Given the description of an element on the screen output the (x, y) to click on. 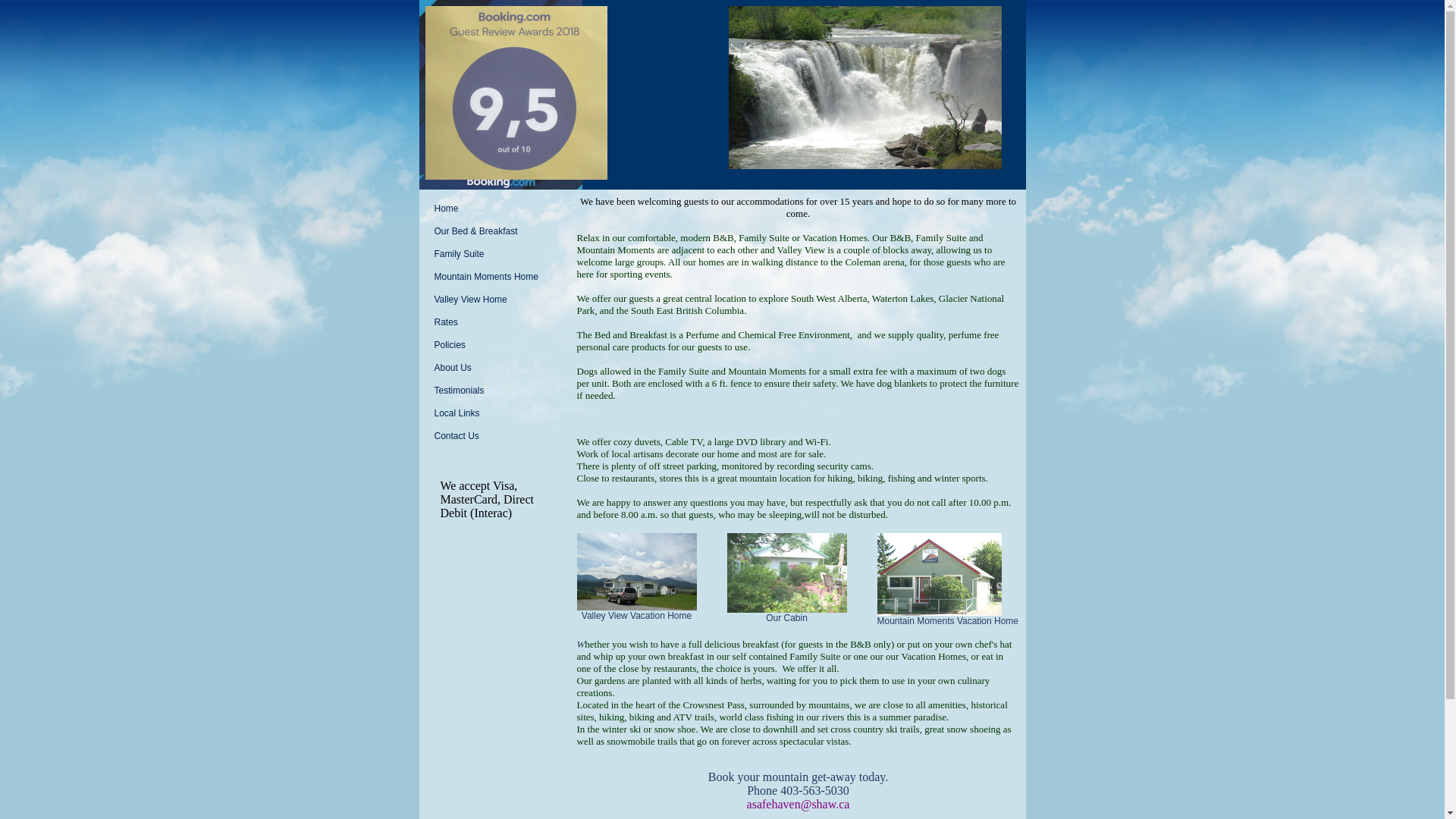
Contact Us Element type: text (494, 435)
Rates Element type: text (494, 321)
Mountain Moments Home Element type: text (494, 276)
Policies Element type: text (494, 344)
Testimonials Element type: text (494, 390)
About Us Element type: text (494, 367)
Family Suite Element type: text (494, 253)
Home Element type: text (494, 208)
Valley View Home Element type: text (494, 299)
Local Links Element type: text (494, 412)
Our Bed & Breakfast Element type: text (494, 230)
